Given the description of an element on the screen output the (x, y) to click on. 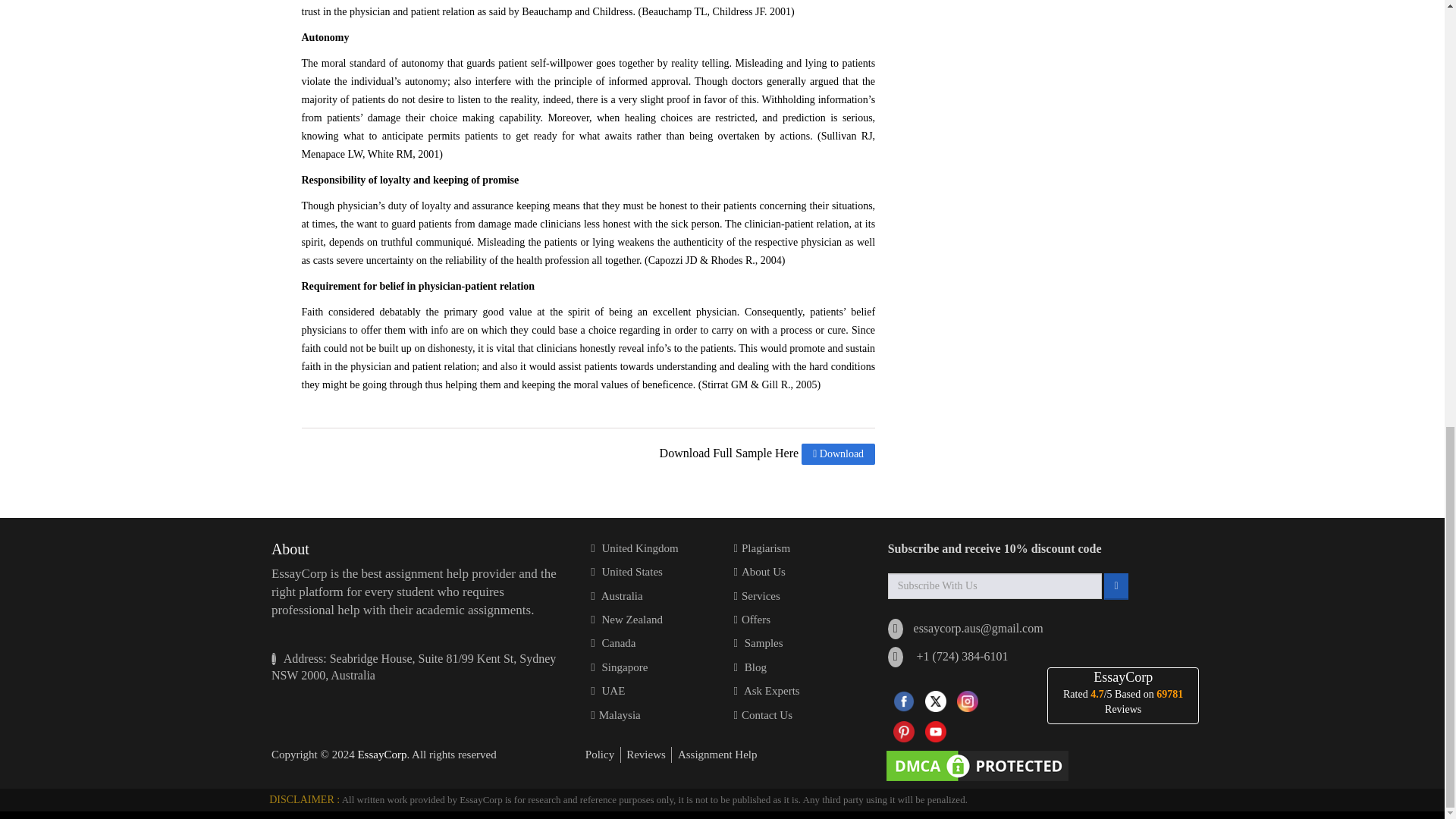
DMCA.com Protection Status (979, 764)
